Given the description of an element on the screen output the (x, y) to click on. 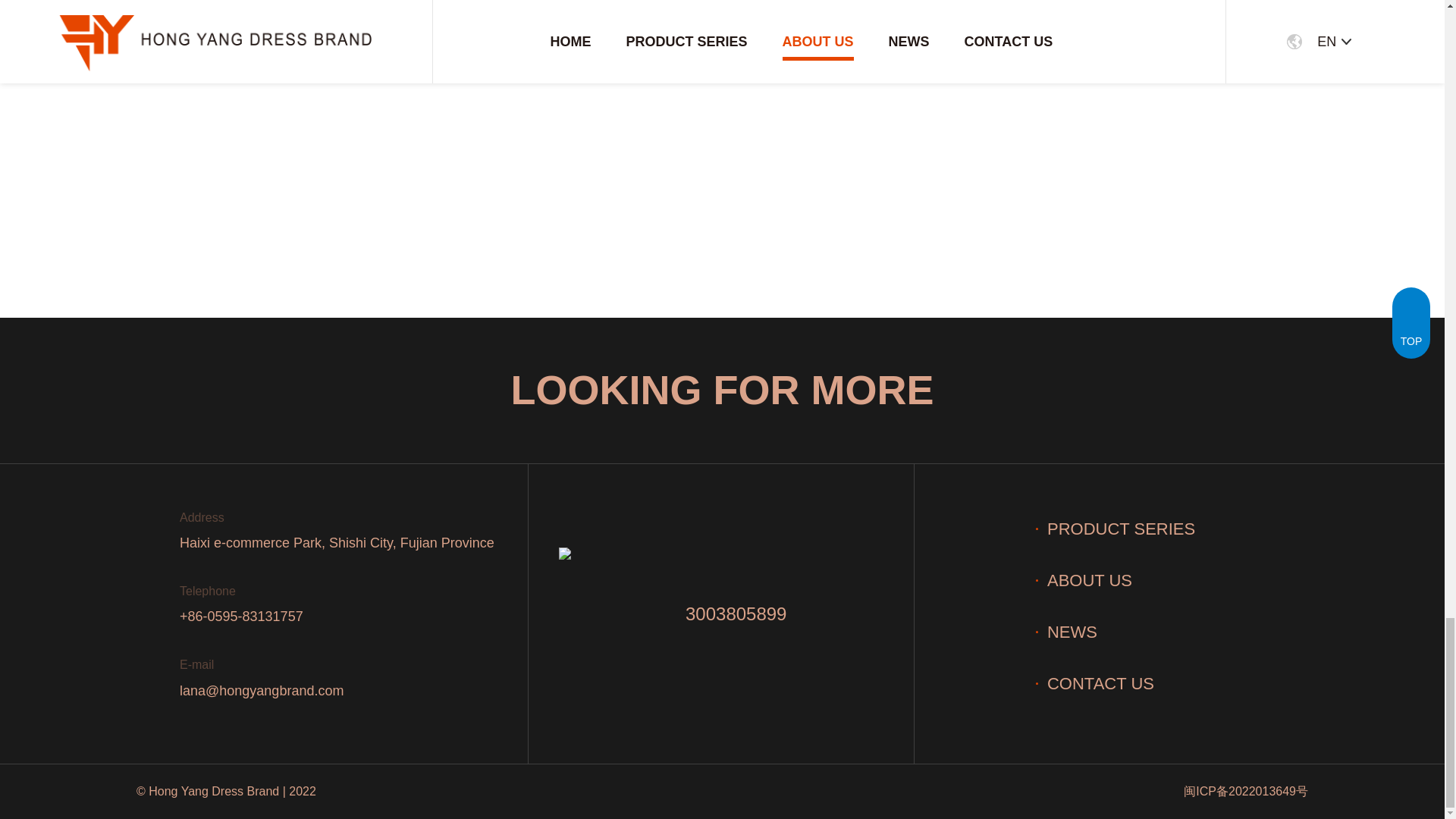
CONTACT US (1094, 683)
ABOUT US (1083, 579)
PRODUCT SERIES (1115, 528)
NEWS (1066, 631)
